Given the description of an element on the screen output the (x, y) to click on. 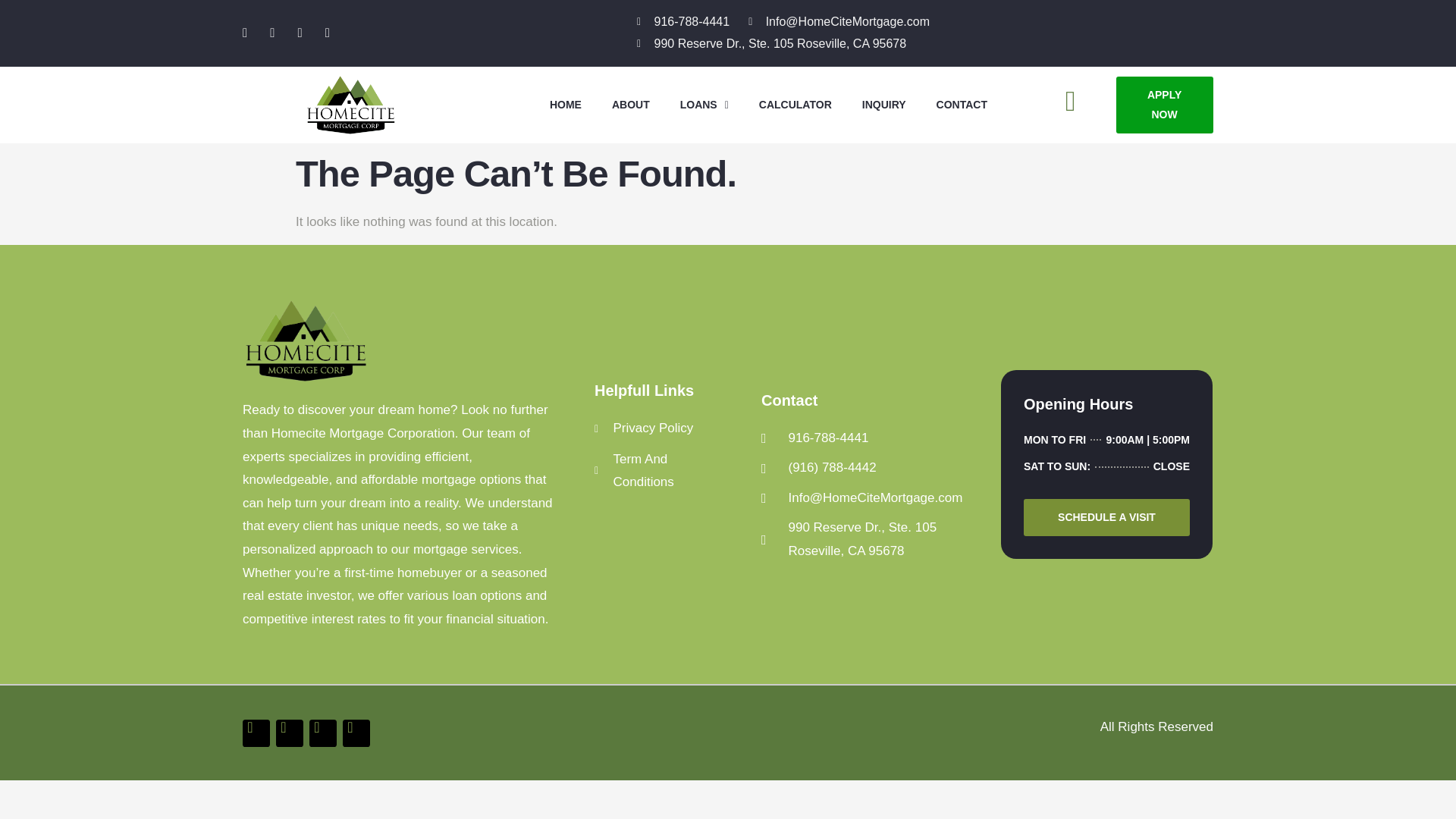
CALCULATOR (795, 104)
APPLY NOW (1164, 104)
916-788-4441 (1106, 470)
LOANS (683, 22)
INQUIRY (704, 104)
990 Reserve Dr., Ste. 105 Roseville, CA 95678 (884, 104)
Privacy Policy (771, 44)
916-788-4441 (662, 428)
CONTACT (873, 438)
990 Reserve Dr., Ste. 105 Roseville, CA 95678 (962, 104)
ABOUT (873, 539)
Term And Conditions (630, 104)
SCHEDULE A VISIT (662, 470)
